Given the description of an element on the screen output the (x, y) to click on. 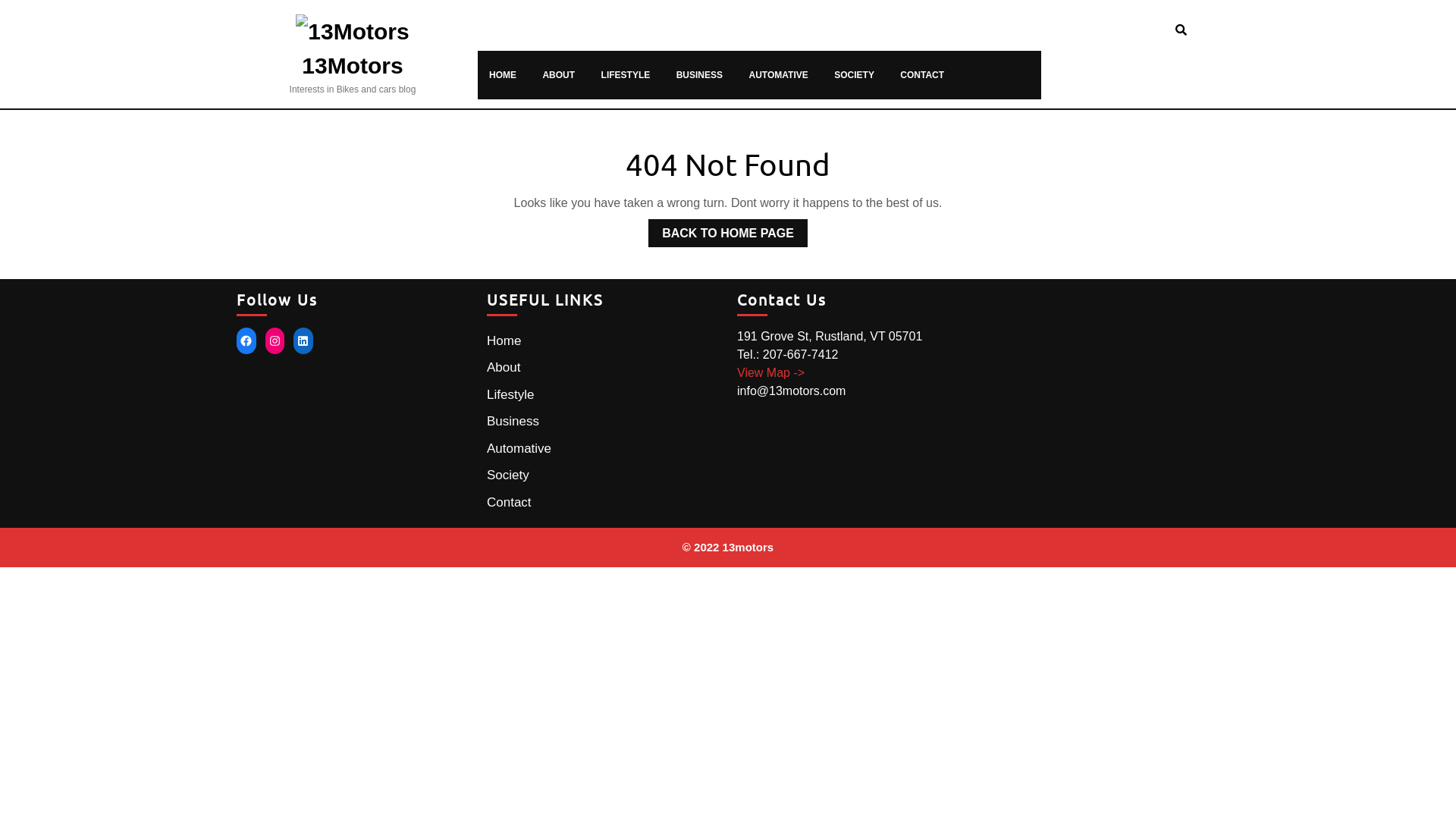
Automative Element type: text (518, 448)
13Motors Element type: text (351, 65)
Contact Element type: text (508, 502)
Business Element type: text (512, 421)
BACK TO HOME PAGE Element type: text (727, 233)
Society Element type: text (507, 474)
Home Element type: text (503, 340)
About Element type: text (503, 367)
SOCIETY Element type: text (853, 74)
HOME Element type: text (502, 74)
LIFESTYLE Element type: text (625, 74)
ABOUT Element type: text (558, 74)
View Map -> Element type: text (770, 372)
AUTOMATIVE Element type: text (778, 74)
BUSINESS Element type: text (699, 74)
CONTACT Element type: text (921, 74)
Lifestyle Element type: text (509, 394)
